Given the description of an element on the screen output the (x, y) to click on. 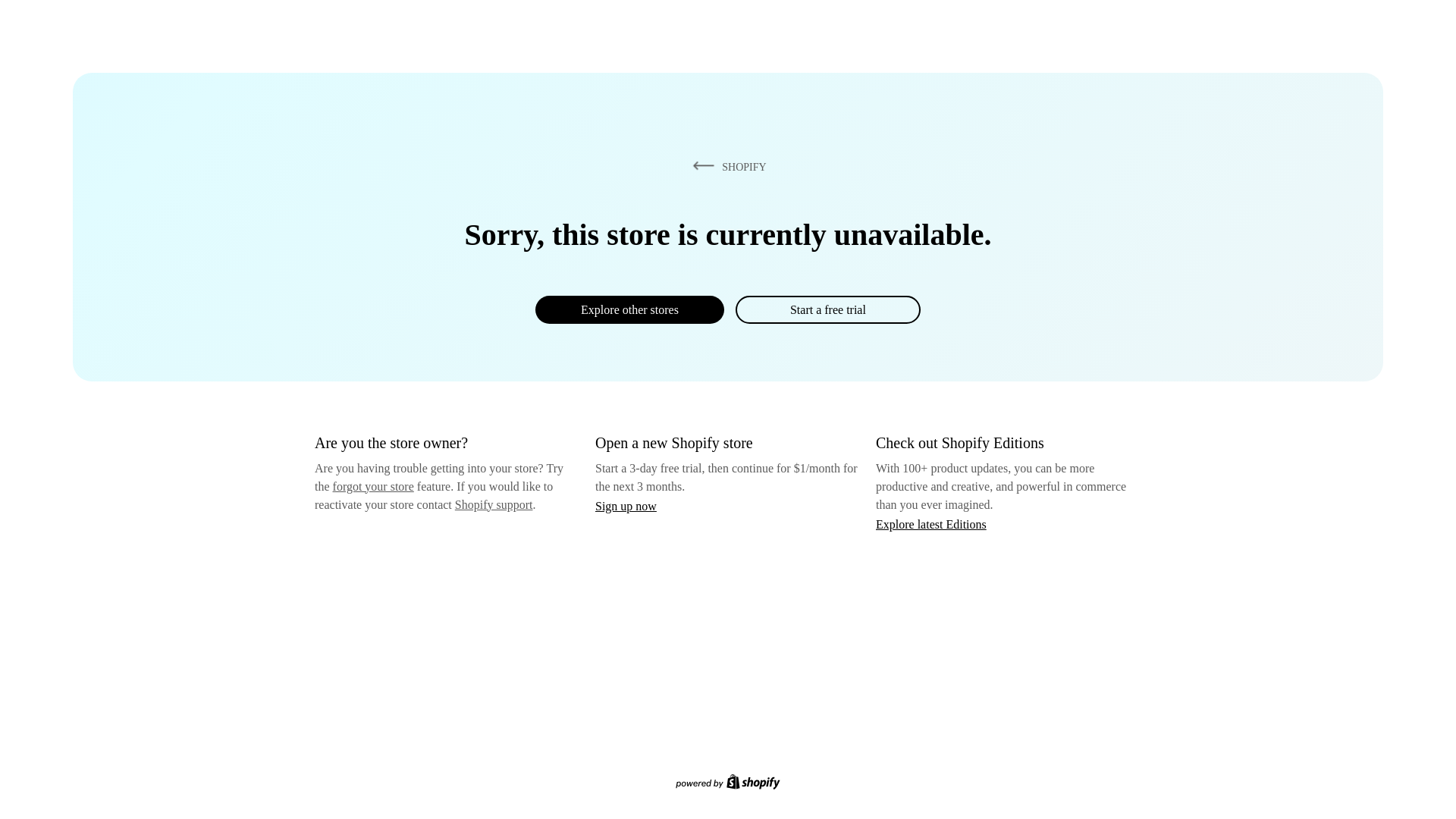
Start a free trial (827, 309)
SHOPIFY (726, 166)
forgot your store (373, 486)
Shopify support (493, 504)
Sign up now (625, 505)
Explore latest Editions (931, 523)
Explore other stores (629, 309)
